Given the description of an element on the screen output the (x, y) to click on. 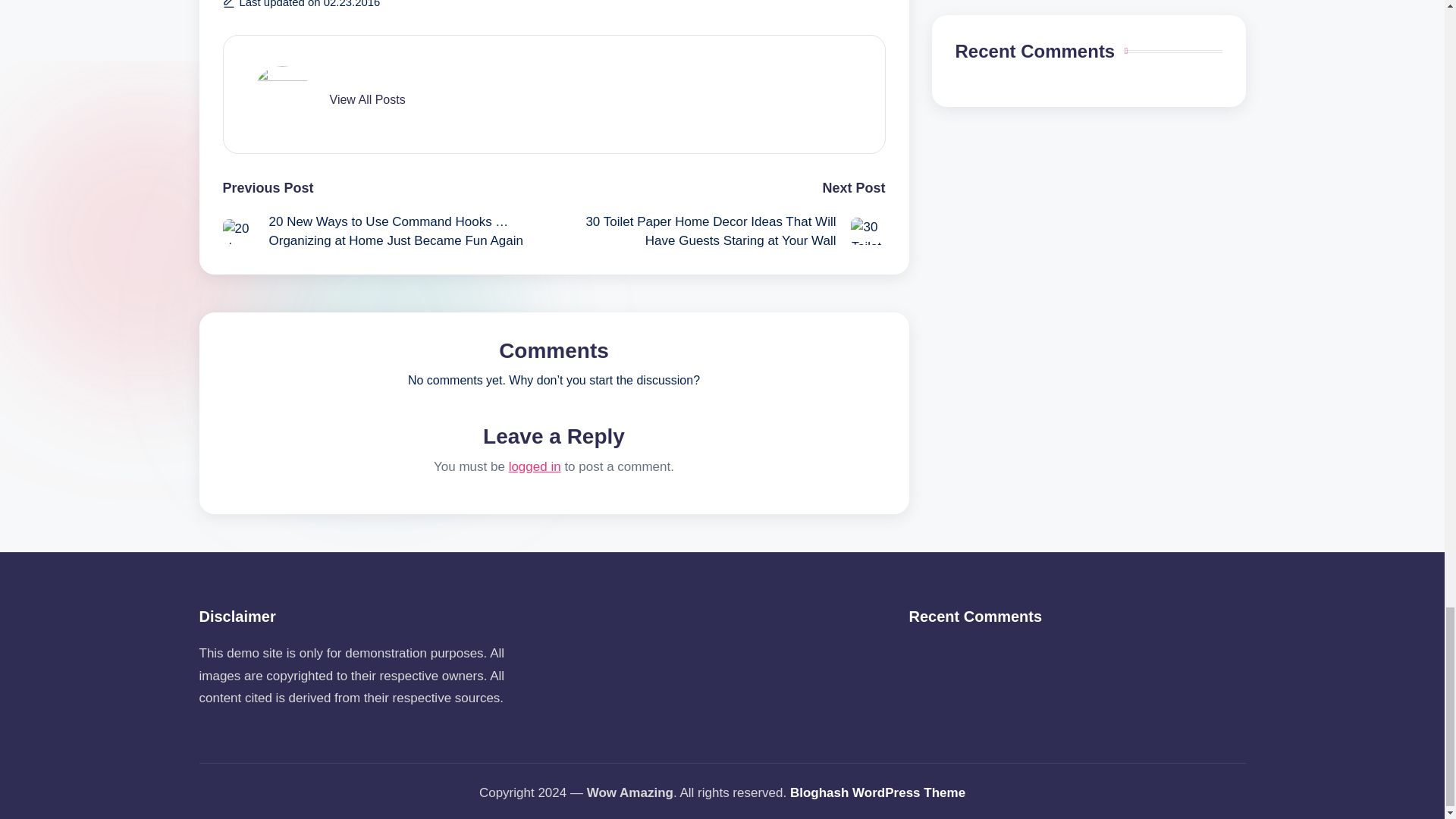
logged in (534, 466)
View All Posts (366, 100)
Bloghash WordPress Theme (877, 793)
